Given the description of an element on the screen output the (x, y) to click on. 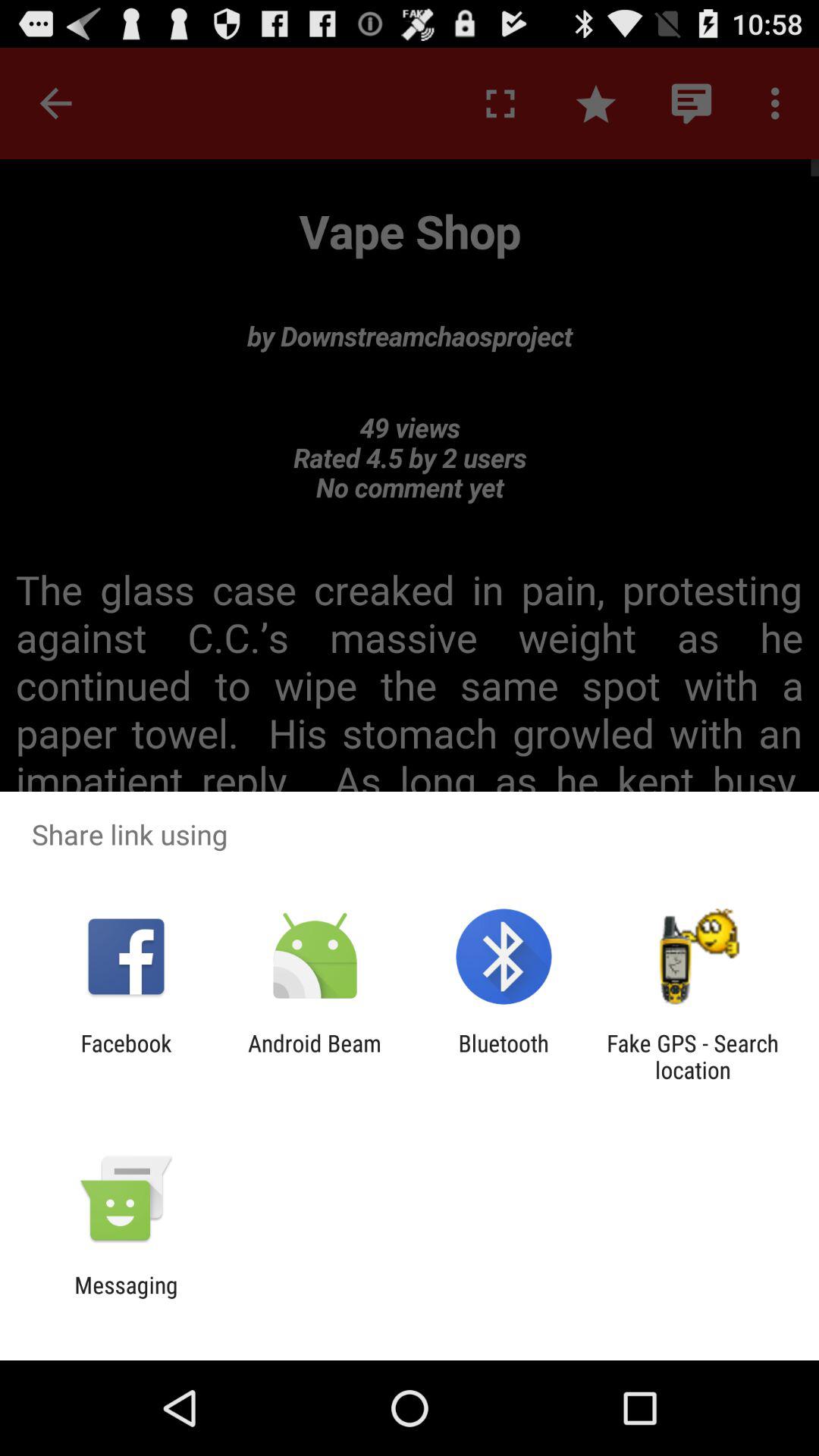
press the app to the left of the bluetooth (314, 1056)
